Given the description of an element on the screen output the (x, y) to click on. 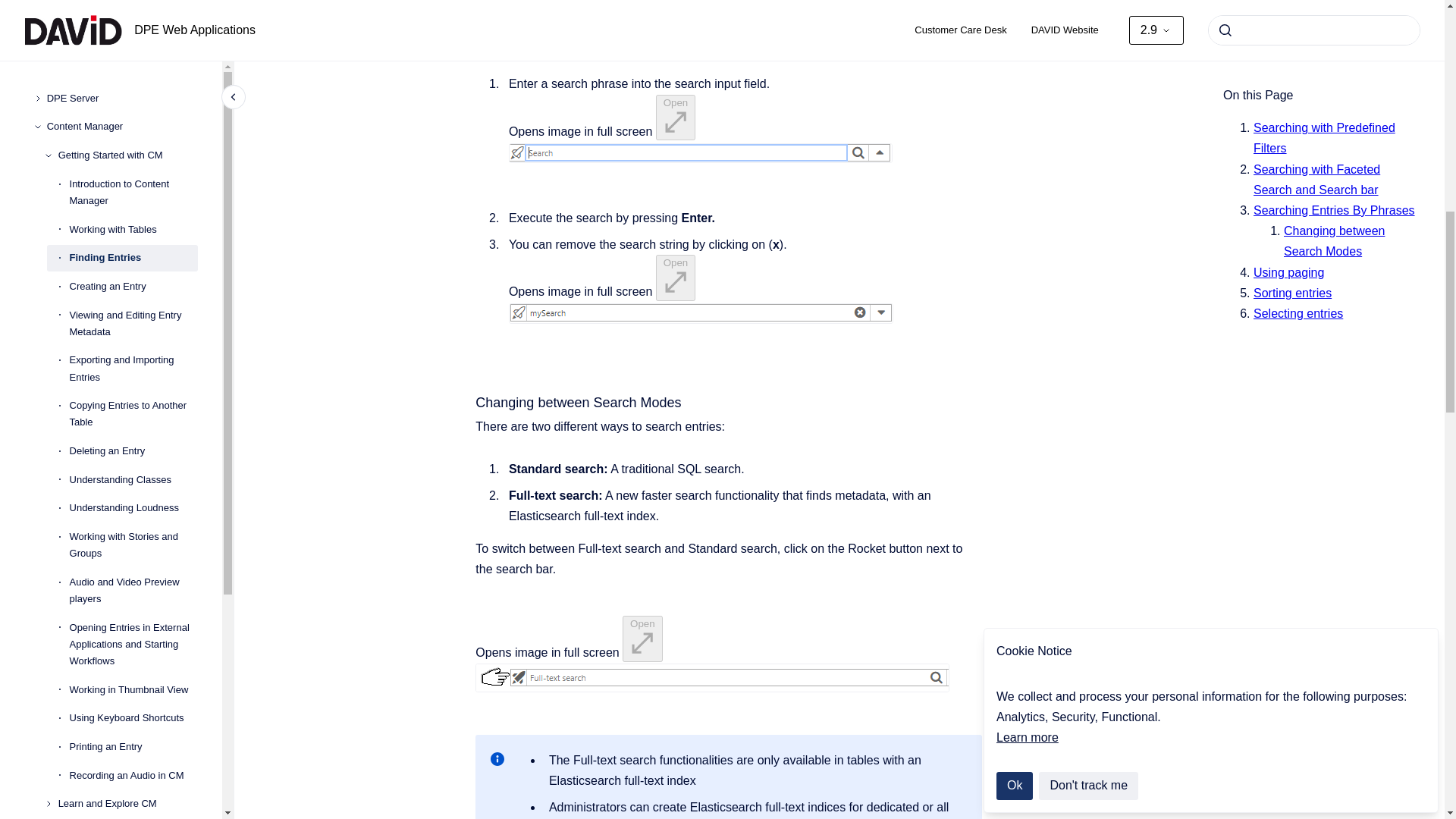
RoughCut Edit (122, 42)
Recommendations for CM (128, 13)
